Given the description of an element on the screen output the (x, y) to click on. 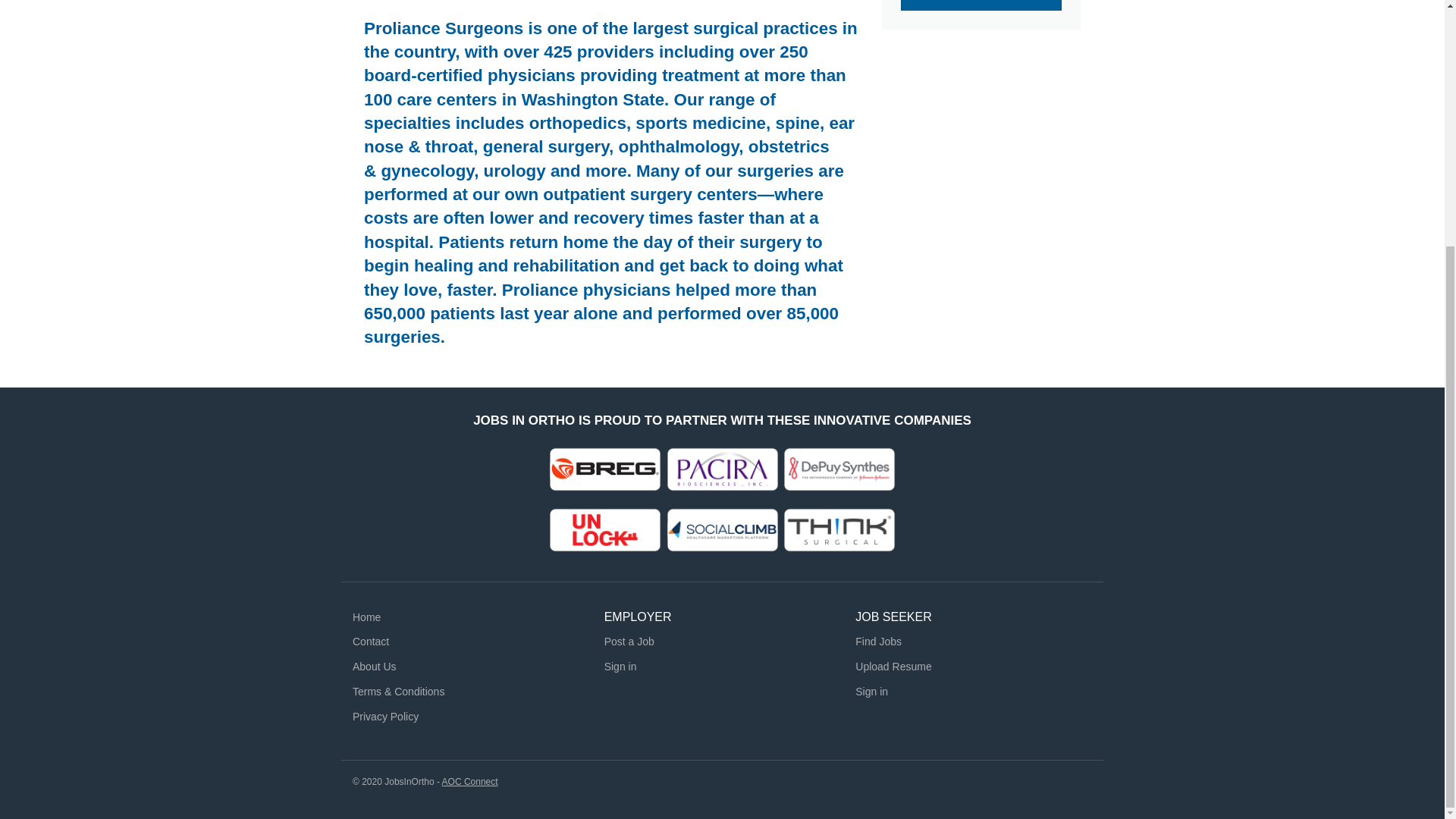
About Us (374, 666)
Create alert (981, 5)
Contact (370, 641)
Home (366, 616)
Create alert (981, 5)
